Given the description of an element on the screen output the (x, y) to click on. 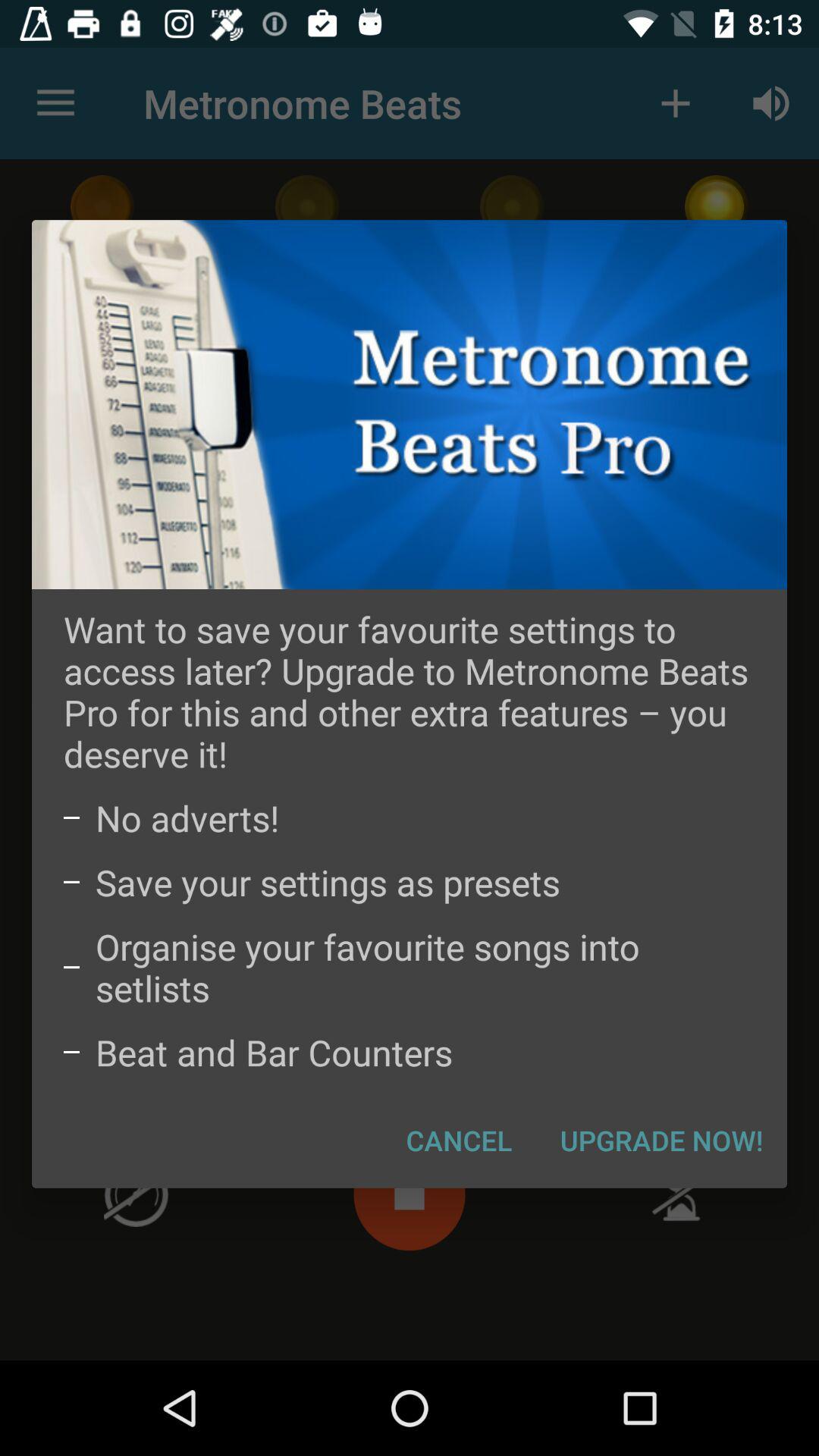
open the item below the beat and bar icon (459, 1140)
